Given the description of an element on the screen output the (x, y) to click on. 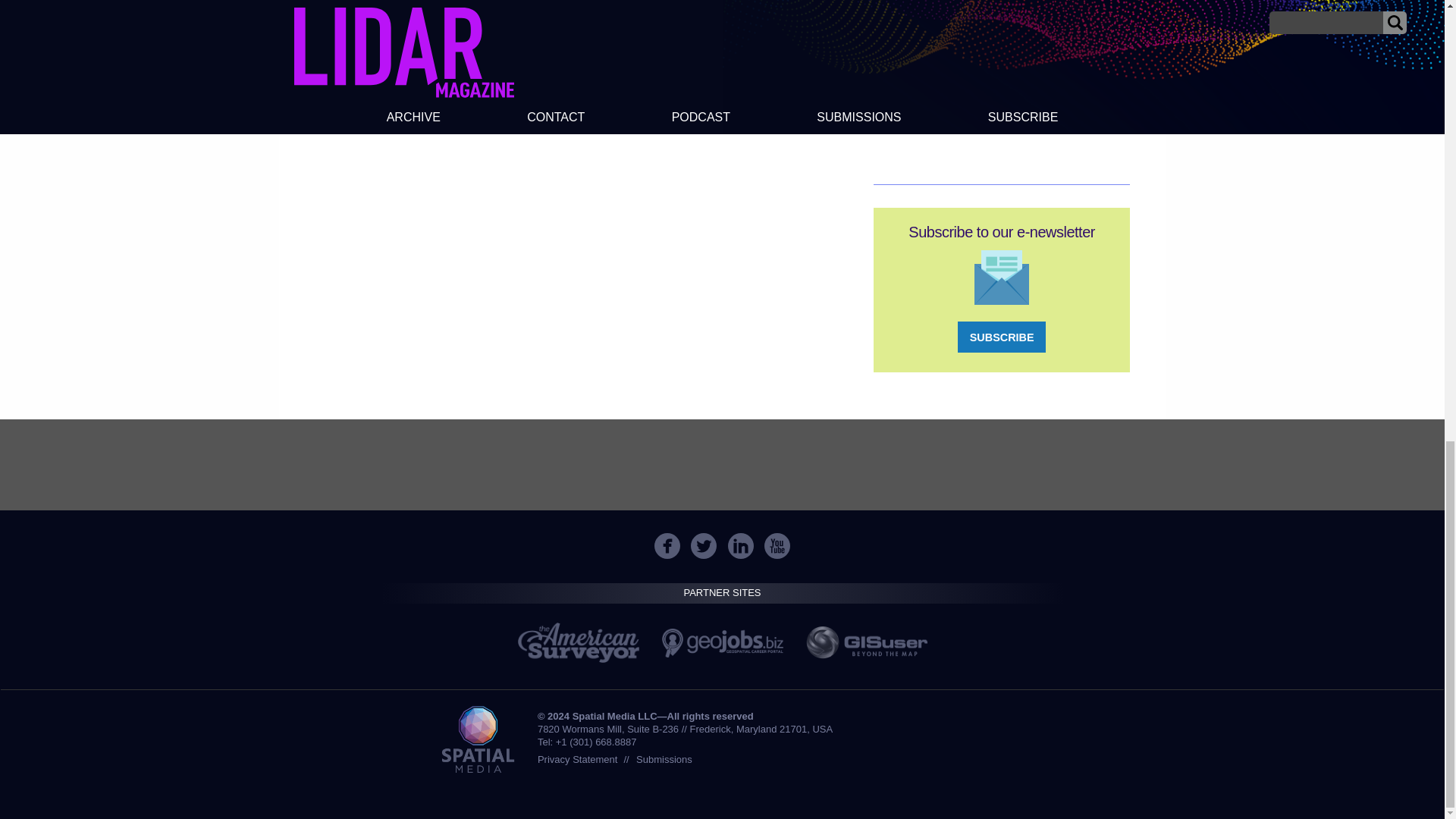
icon-sm-fb (666, 545)
icon-sm-fb (667, 545)
SUBSCRIBE (1001, 336)
Airborne (375, 23)
icon-sm-linkedin (741, 545)
icon-sm-youtube (776, 545)
icon-sm-youtube (777, 545)
icon-sm-twitter (703, 545)
Submissions (664, 758)
Privacy Statement (577, 758)
3rd party ad content (721, 464)
icon-sm-linkedin (740, 545)
icon-sm-twitter (703, 545)
